Given the description of an element on the screen output the (x, y) to click on. 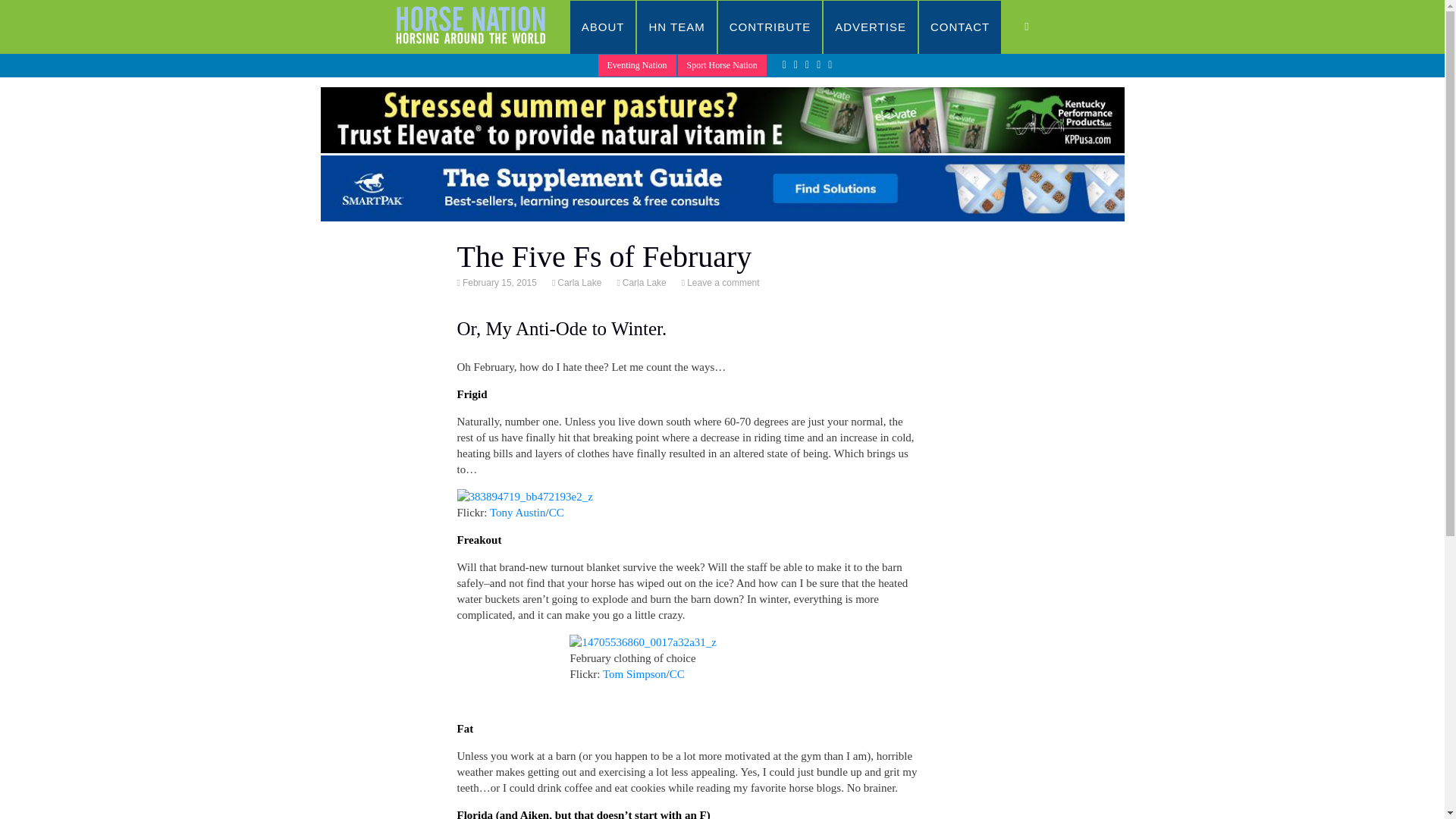
CONTACT (959, 27)
Tom Simpson (634, 674)
CC (556, 512)
SEARCH (1041, 27)
CONTRIBUTE (769, 27)
Carla Lake (643, 282)
ADVERTISE (870, 27)
Eventing Nation (637, 65)
View all posts by Carla Lake (577, 282)
Permalink to The Five Fs of February (498, 282)
